Given the description of an element on the screen output the (x, y) to click on. 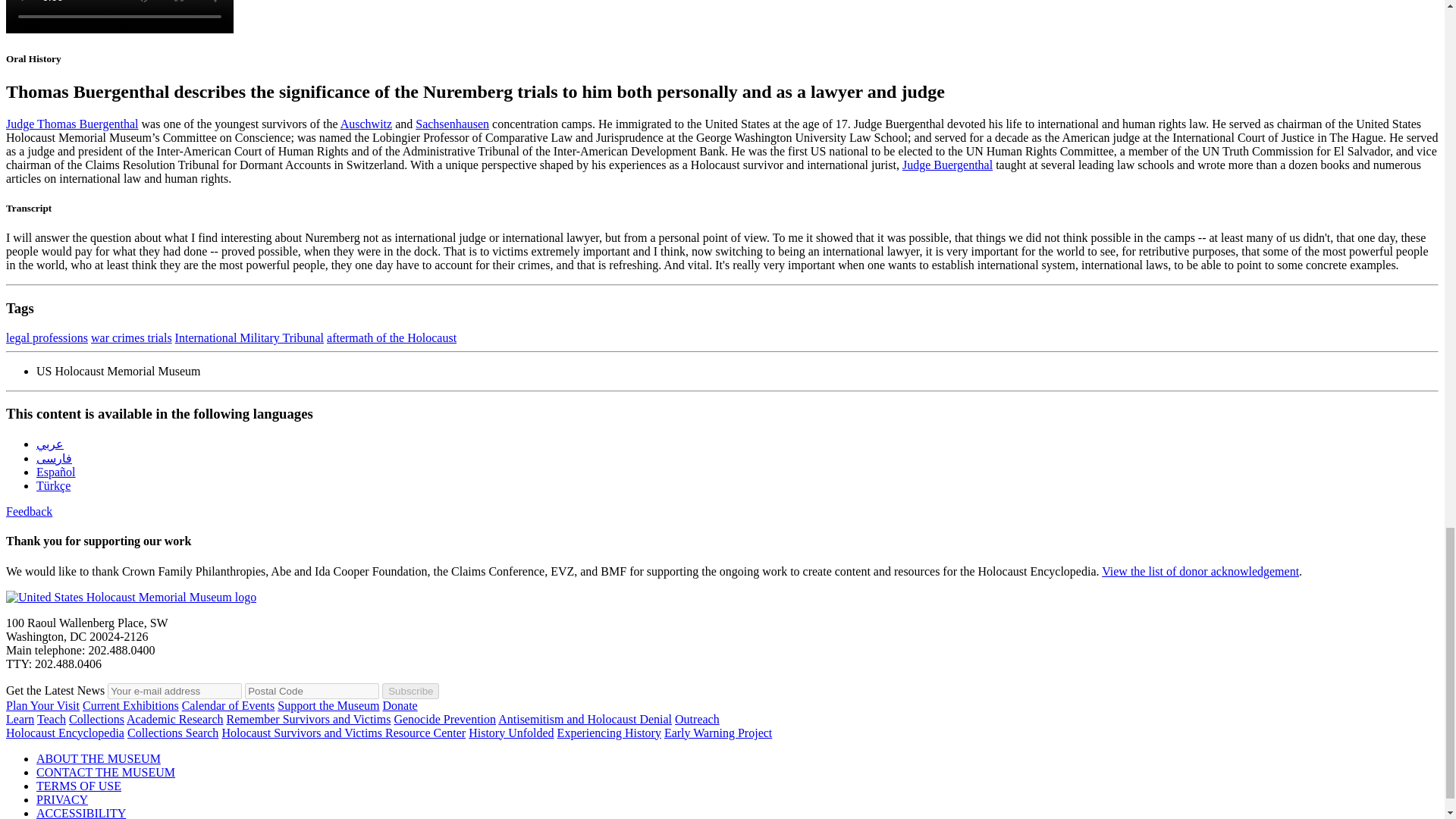
Subscribe (410, 691)
